Given the description of an element on the screen output the (x, y) to click on. 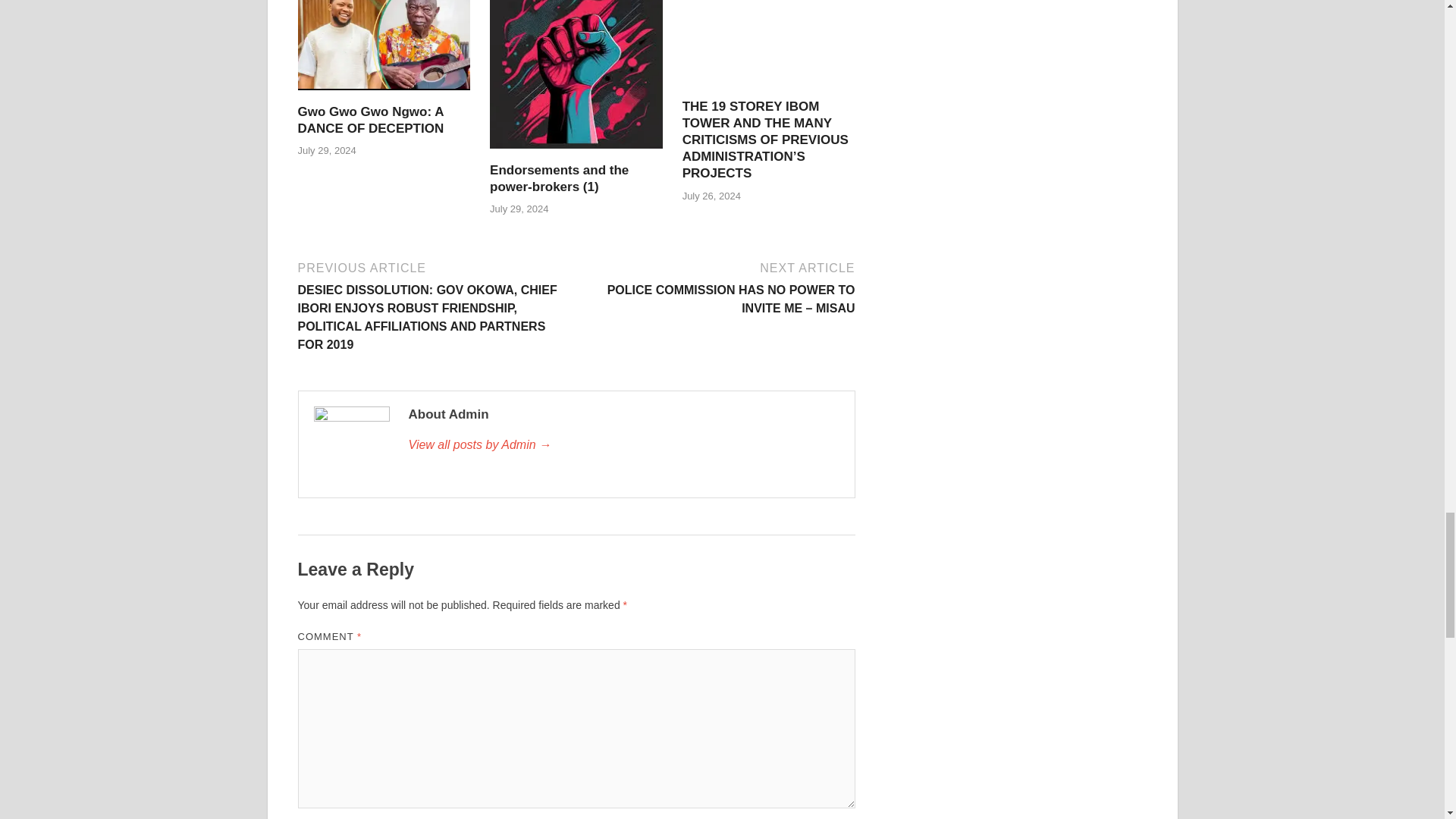
Admin (622, 444)
Gwo Gwo Gwo Ngwo: A DANCE OF DECEPTION (383, 93)
Gwo Gwo Gwo Ngwo: A DANCE OF DECEPTION (370, 119)
Gwo Gwo Gwo Ngwo: A DANCE OF DECEPTION (370, 119)
